Given the description of an element on the screen output the (x, y) to click on. 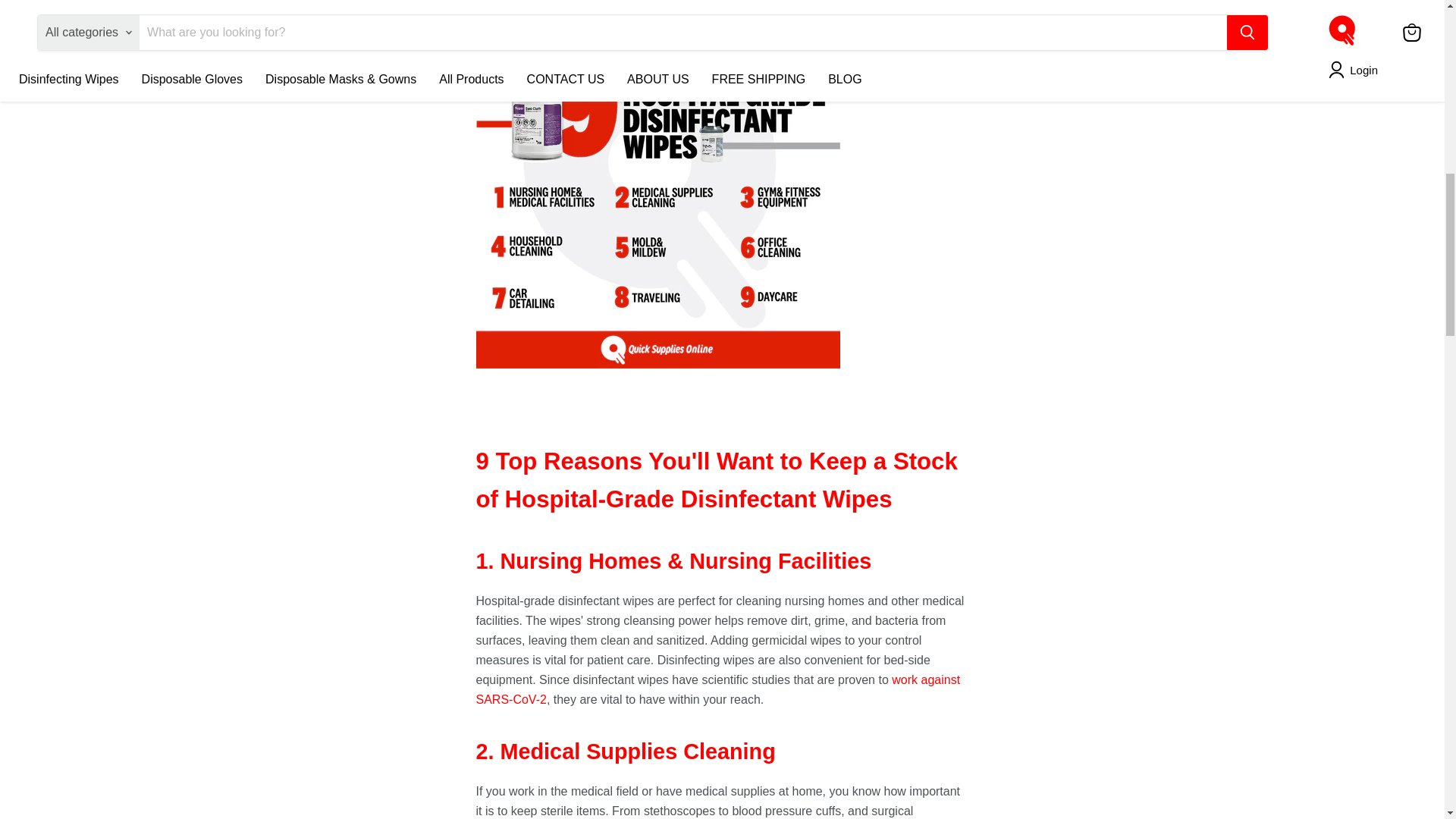
work against SARS-CoV-2 (718, 689)
